Given the description of an element on the screen output the (x, y) to click on. 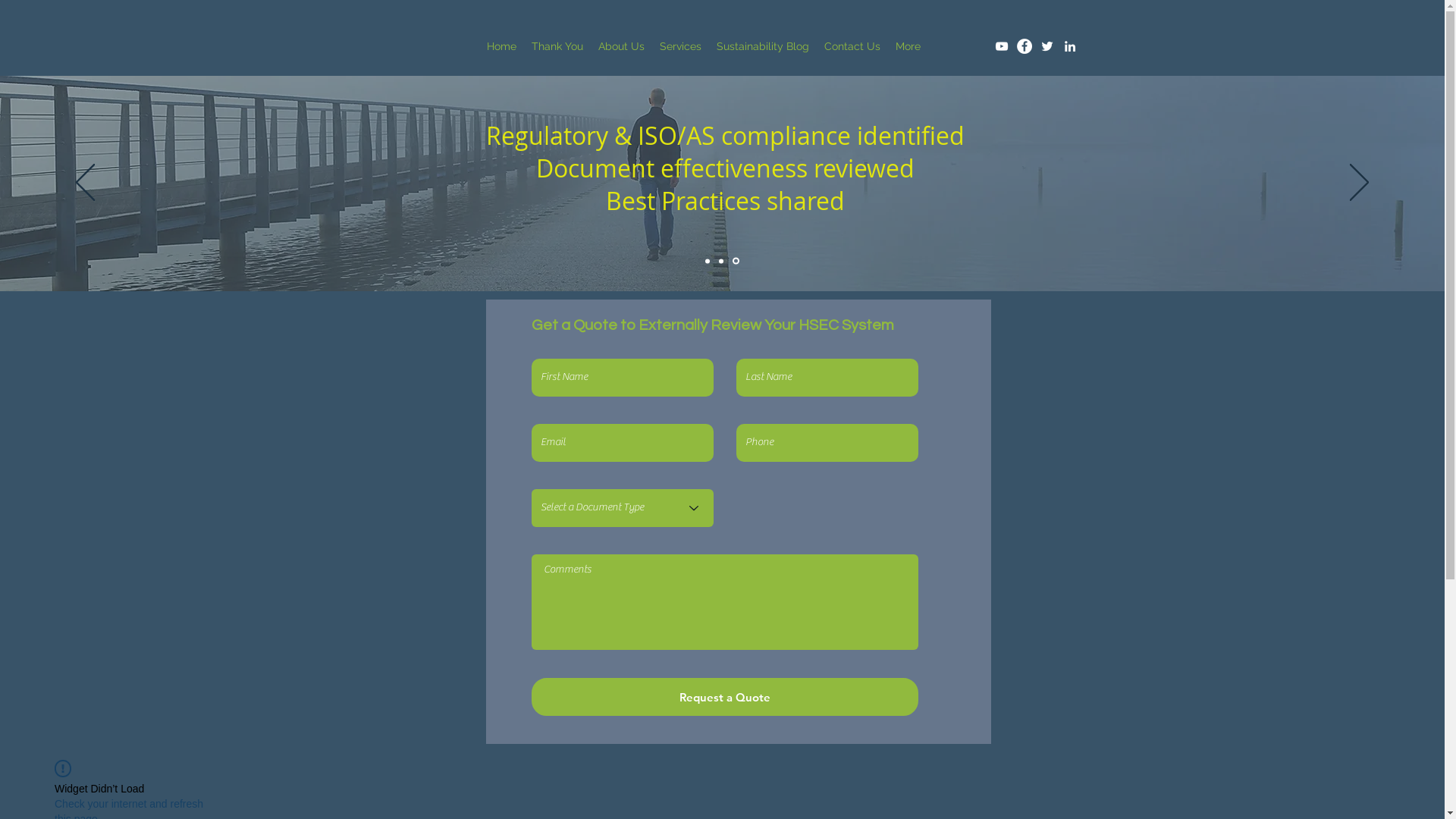
Home Element type: text (501, 45)
Sustainability Blog Element type: text (761, 45)
About Us Element type: text (620, 45)
Request a Quote Element type: text (723, 696)
Thank You Element type: text (556, 45)
Contact Us Element type: text (851, 45)
Services Element type: text (680, 45)
